Given the description of an element on the screen output the (x, y) to click on. 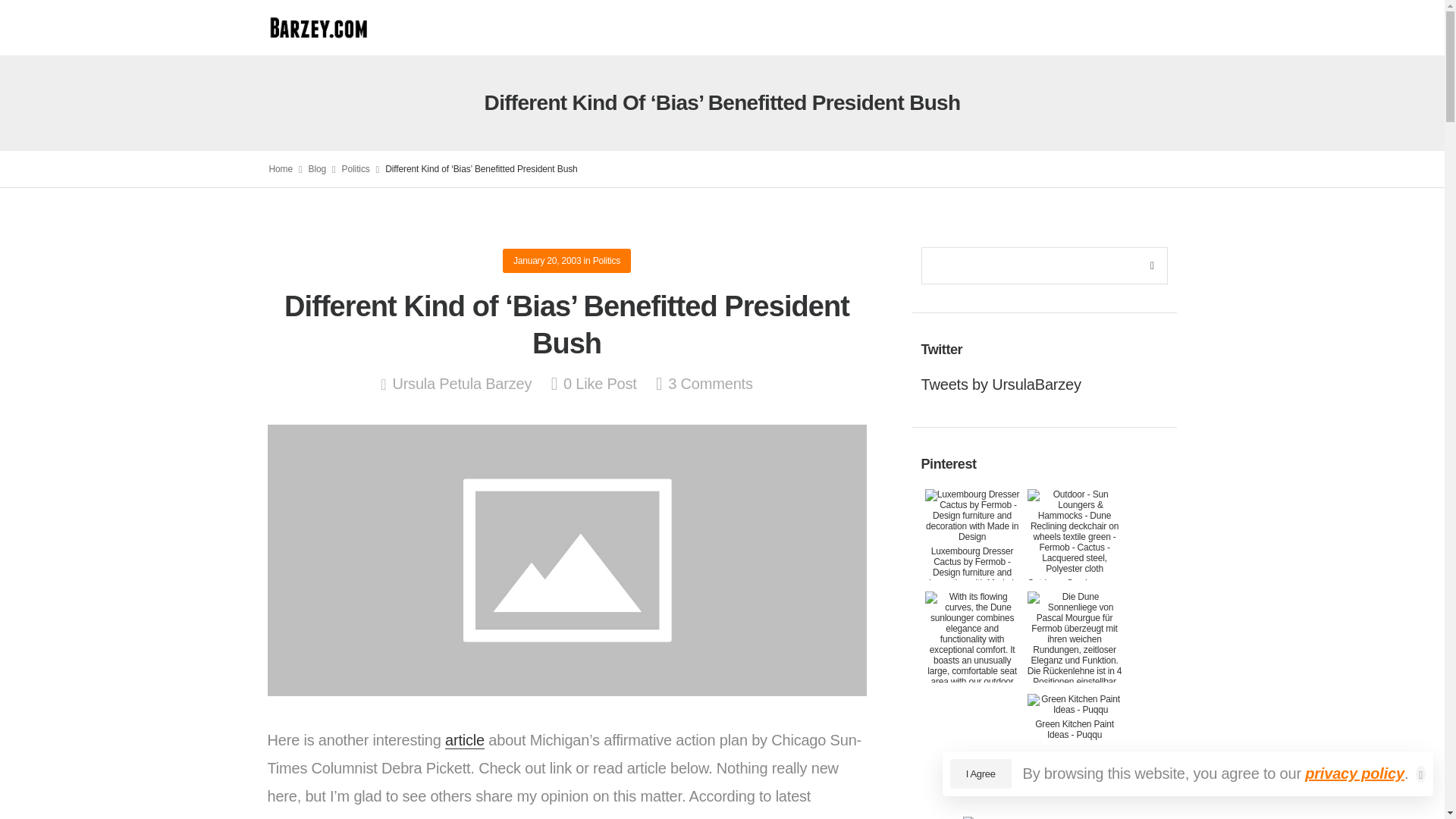
0 Like Post (594, 383)
Follow Me on Pinterest (1045, 815)
Politics (606, 260)
Politics (355, 168)
January 20, 2003 (546, 260)
3 Comments (704, 383)
Green Kitchen Paint Ideas - Puqqu - Pinned on Apr 30, 2024 (1074, 715)
article (464, 740)
Ursula Petula Barzey (455, 383)
Posts by Ursula Petula Barzey (455, 383)
Tweets by UrsulaBarzey (1001, 384)
Blog (317, 168)
 - Pinned on May 21, 2024 (972, 710)
Green Kitchen Paint Ideas - Puqqu (1074, 715)
